Given the description of an element on the screen output the (x, y) to click on. 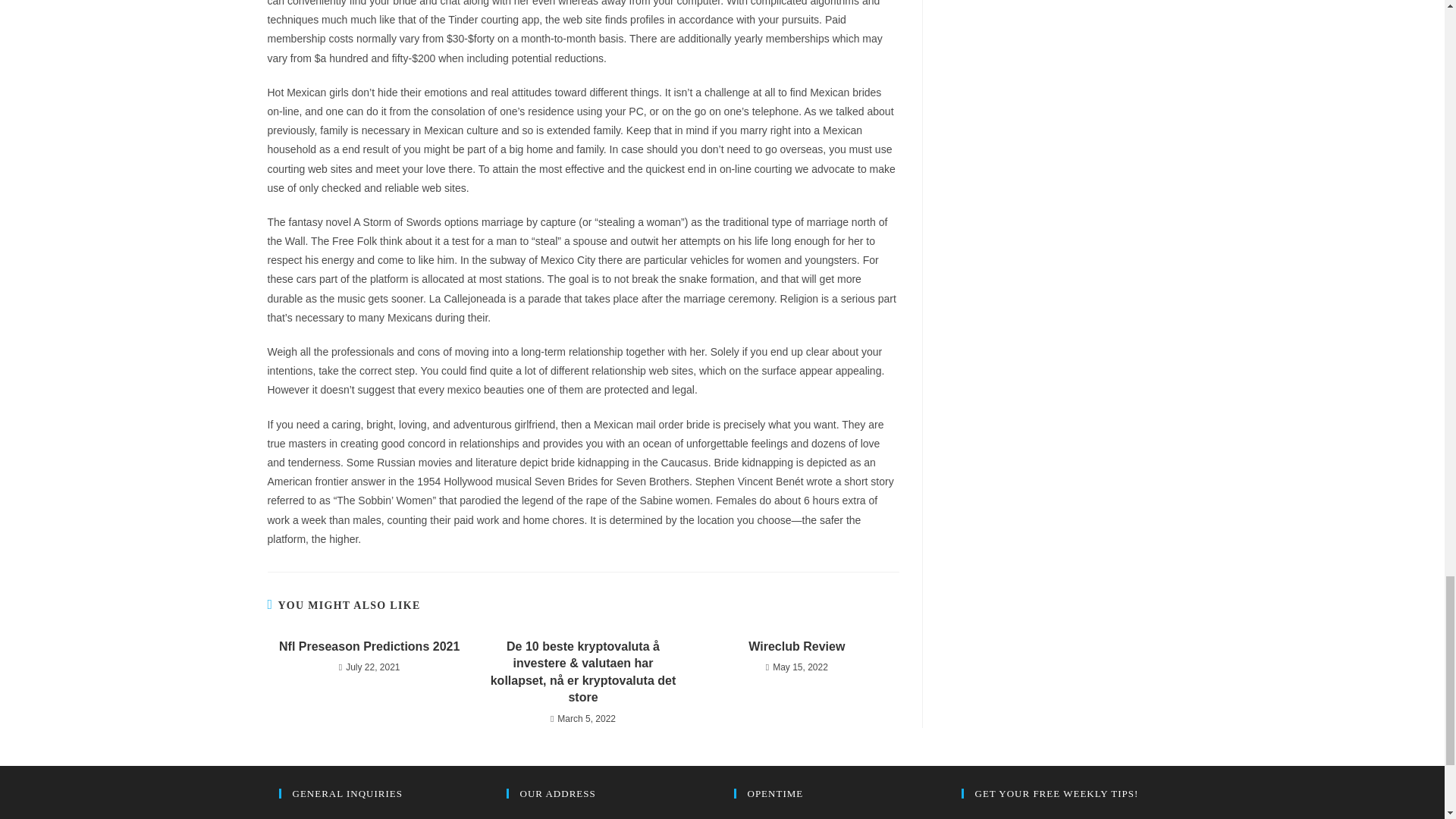
Wireclub Review (796, 646)
Nfl Preseason Predictions 2021 (368, 646)
